Given the description of an element on the screen output the (x, y) to click on. 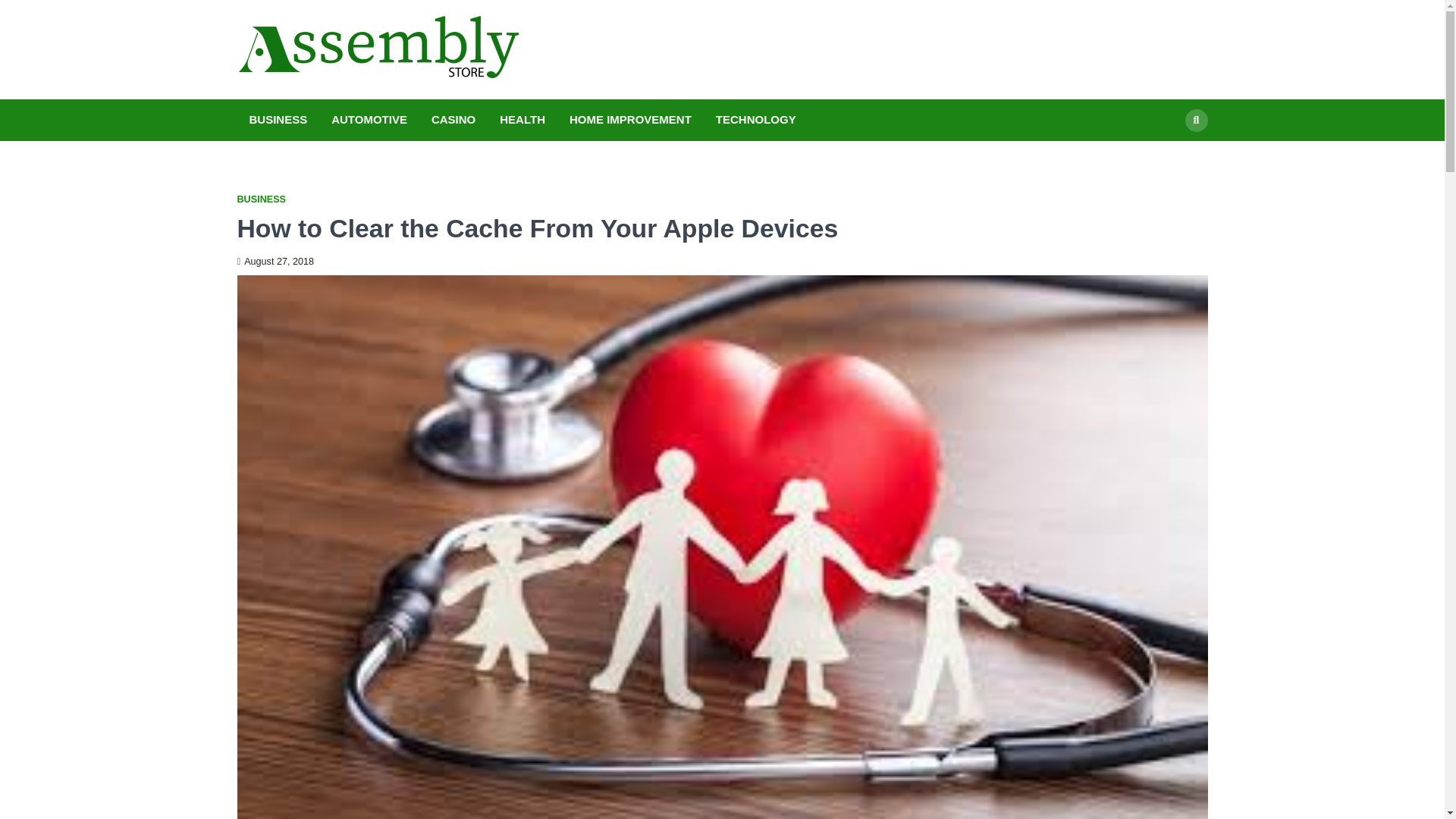
HEALTH (522, 119)
The Assembly Store (637, 65)
August 27, 2018 (274, 261)
TECHNOLOGY (756, 119)
BUSINESS (260, 199)
HOME IMPROVEMENT (630, 119)
Search (1196, 119)
Search (1168, 155)
CASINO (453, 119)
AUTOMOTIVE (368, 119)
